Given the description of an element on the screen output the (x, y) to click on. 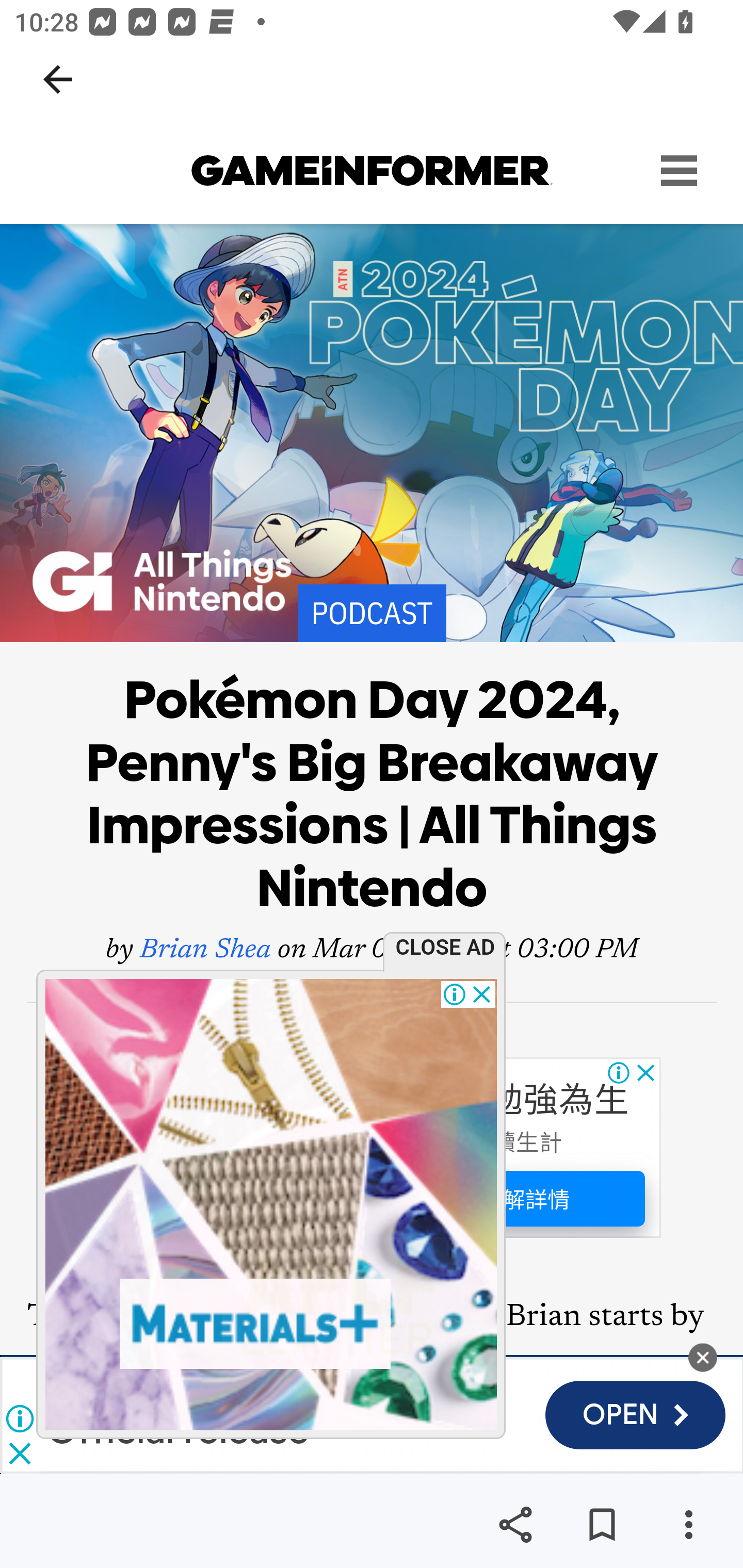
Navigate up (57, 79)
www.gameinformer (371, 170)
CLOSE AD (449, 945)
Brian Shea (204, 950)
Share (514, 1524)
Save for later (601, 1524)
More options (688, 1524)
